Given the description of an element on the screen output the (x, y) to click on. 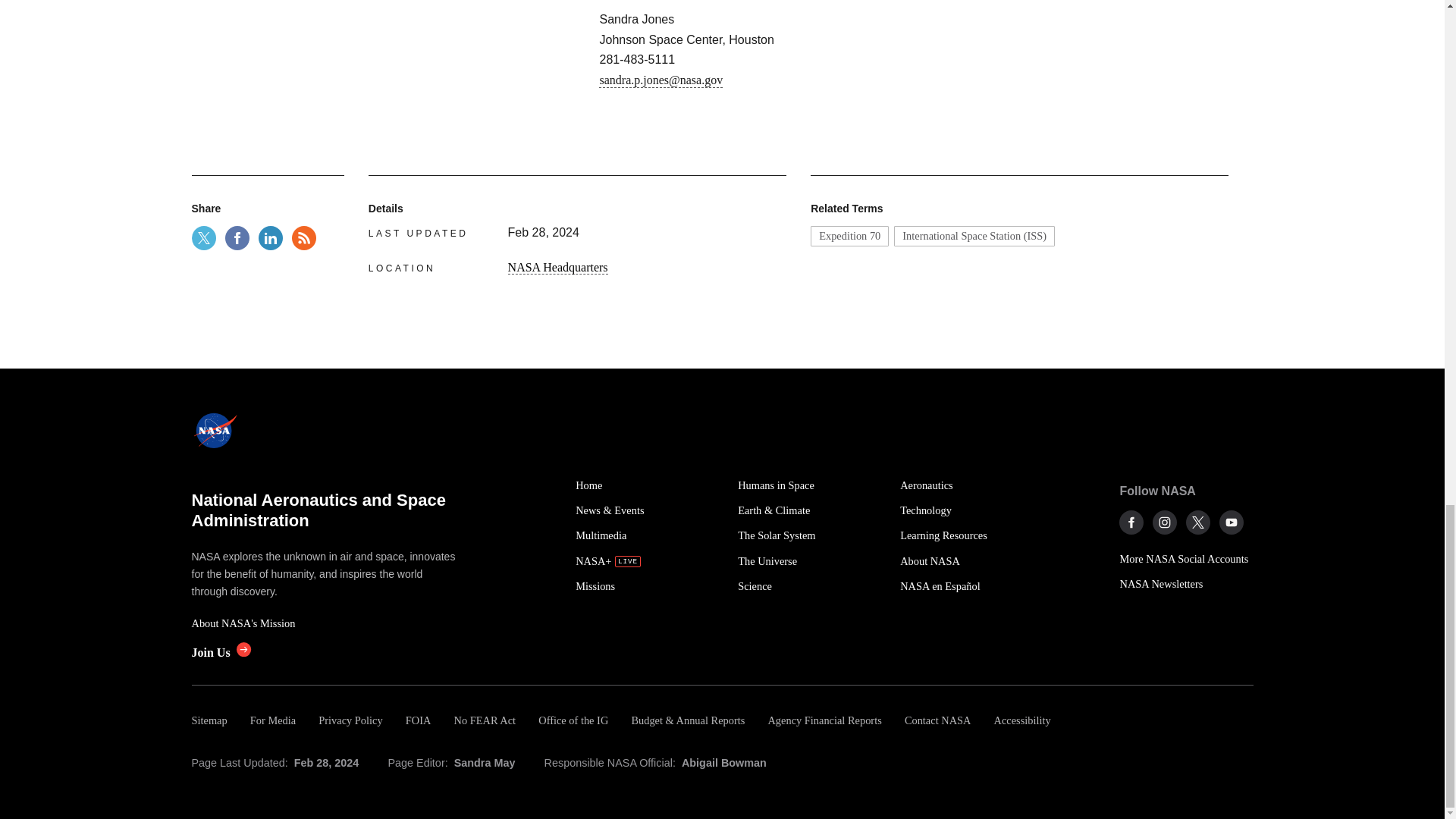
NASA on X (1197, 522)
About NASA's Mission (324, 623)
Expedition 70 (849, 235)
NASA on Instagram (1164, 522)
NASA on Facebook (1130, 522)
NASA Headquarters (558, 267)
NASA on YouTube (1231, 522)
